Given the description of an element on the screen output the (x, y) to click on. 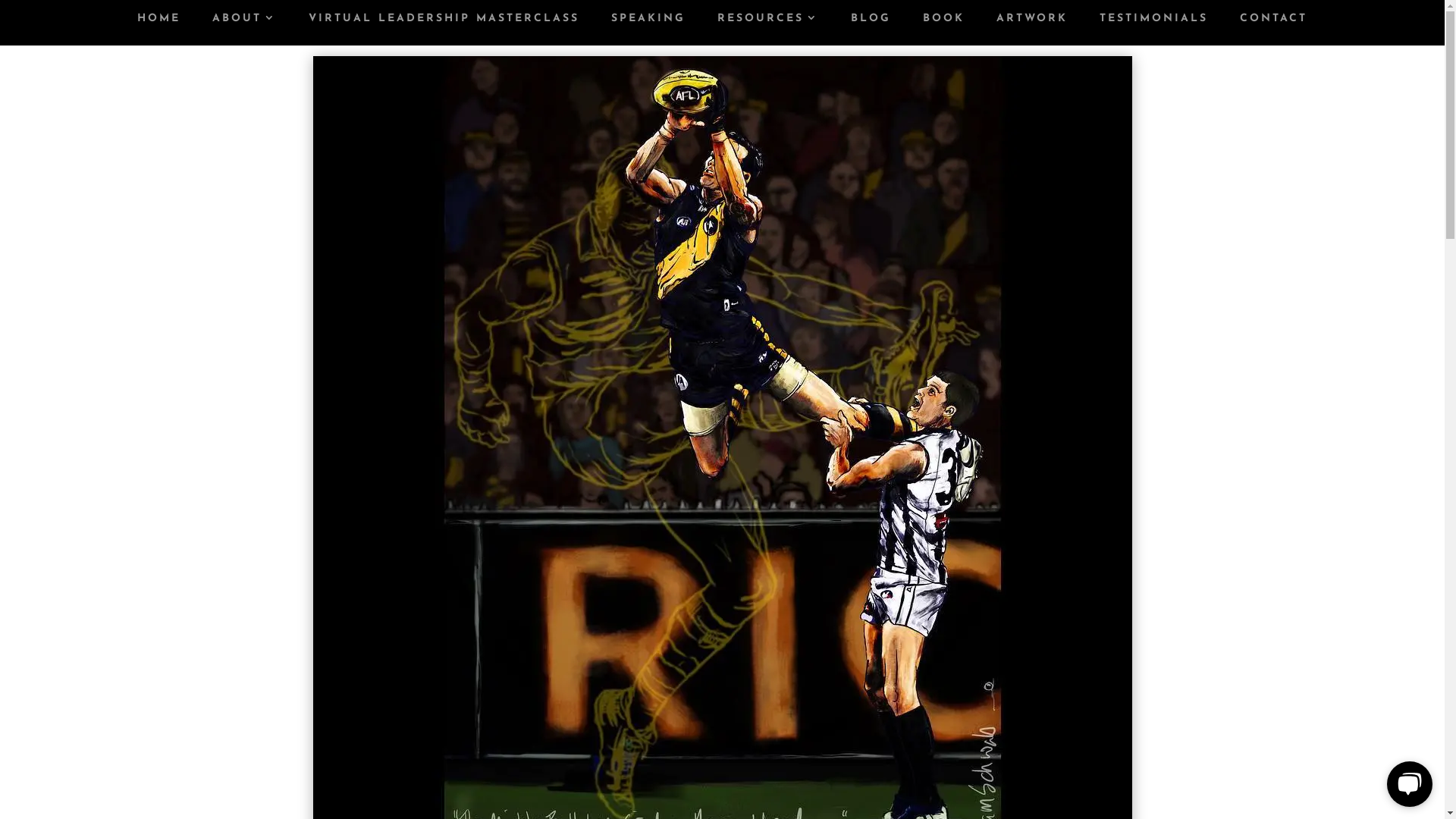
CONTACT Element type: text (1273, 29)
ABOUT Element type: text (244, 29)
ARTWORK Element type: text (1031, 29)
SPEAKING Element type: text (648, 29)
RESOURCES Element type: text (768, 29)
BOOK Element type: text (943, 29)
HOME Element type: text (158, 29)
VIRTUAL LEADERSHIP MASTERCLASS Element type: text (443, 29)
BLOG Element type: text (870, 29)
TESTIMONIALS Element type: text (1153, 29)
